Given the description of an element on the screen output the (x, y) to click on. 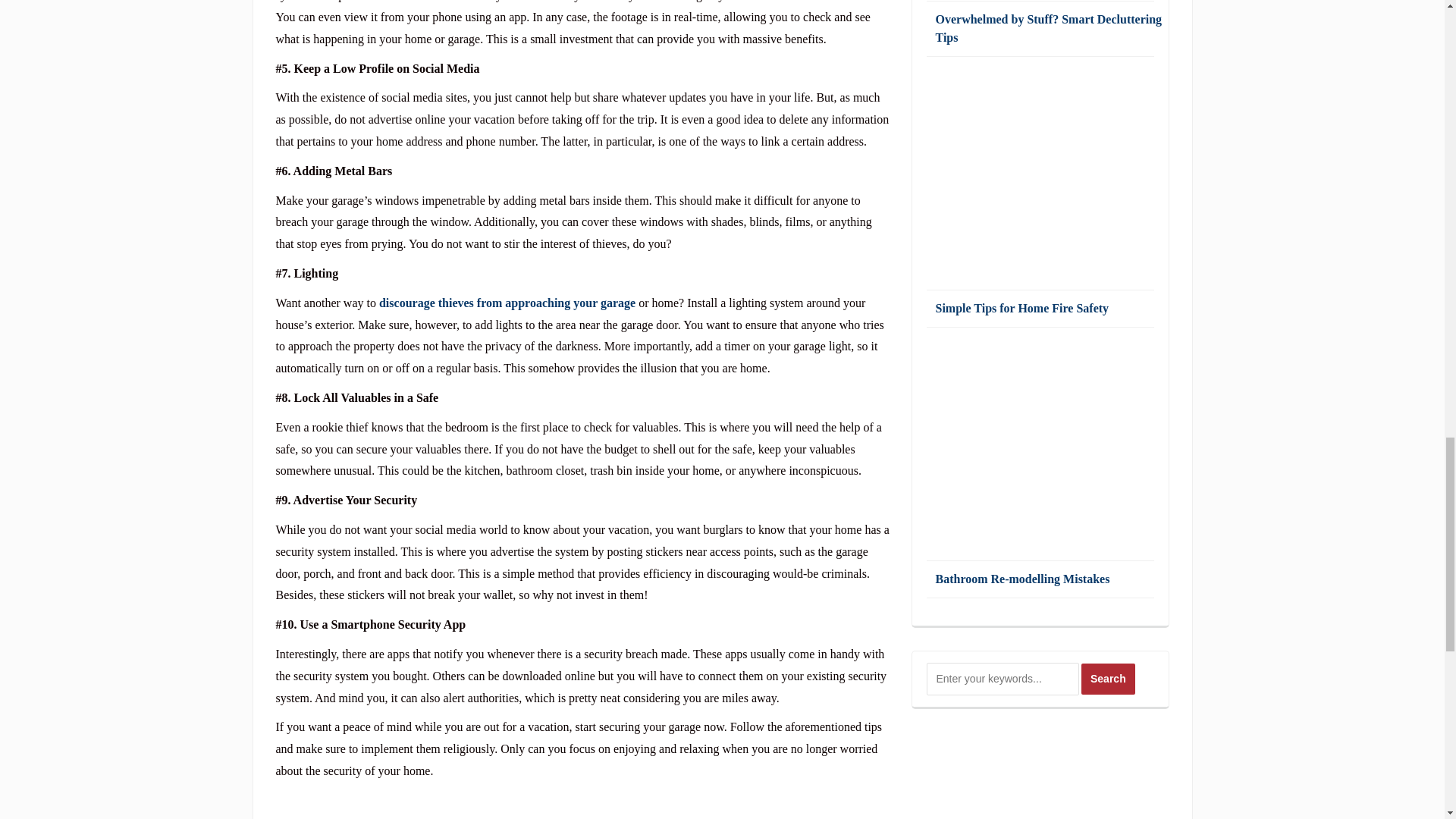
Search (1108, 678)
Search (1108, 678)
